Given the description of an element on the screen output the (x, y) to click on. 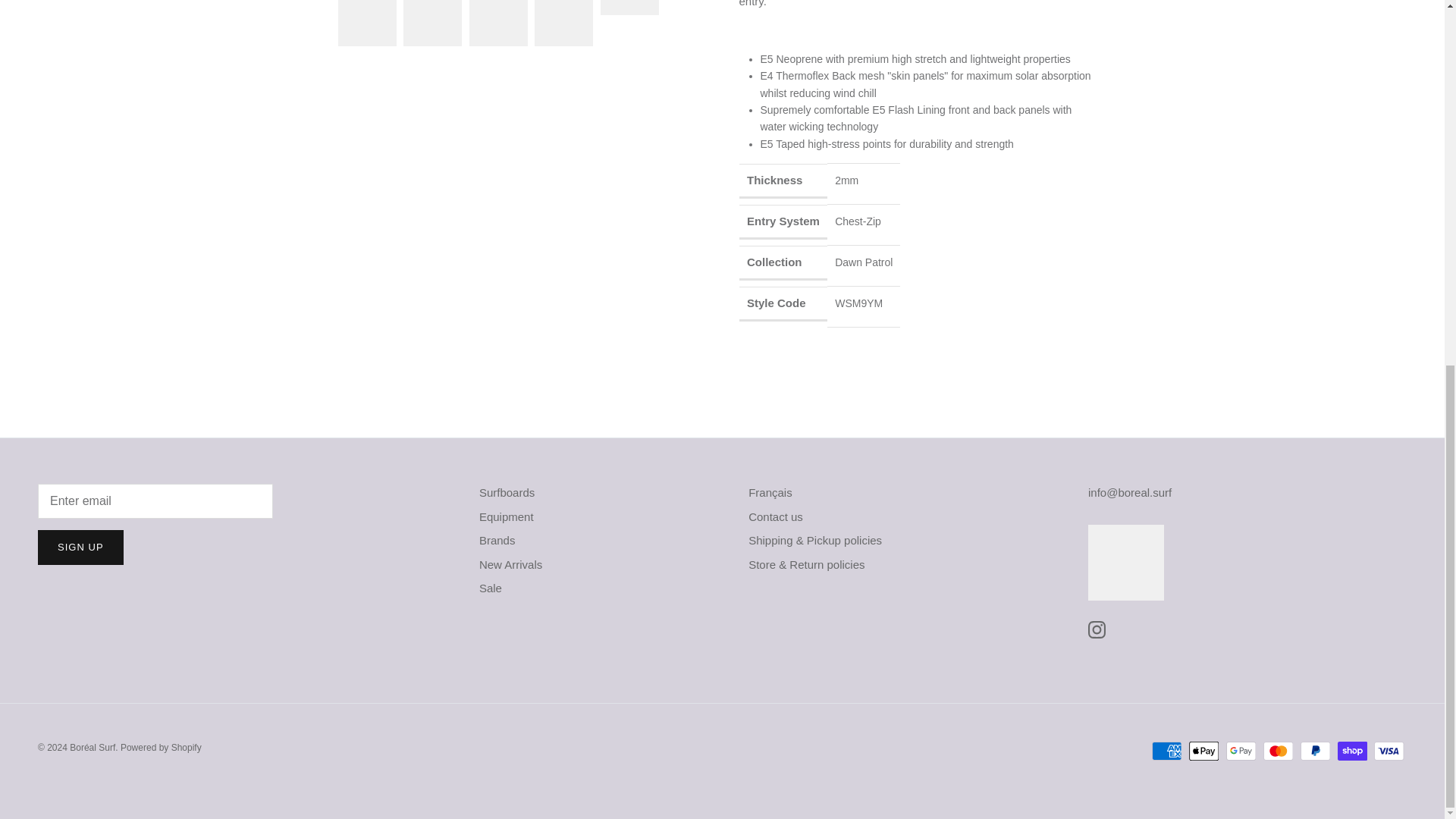
Instagram (1096, 629)
PayPal (1315, 751)
Apple Pay (1203, 751)
Google Pay (1240, 751)
American Express (1166, 751)
Mastercard (1277, 751)
Visa (1388, 751)
Shop Pay (1352, 751)
